Given the description of an element on the screen output the (x, y) to click on. 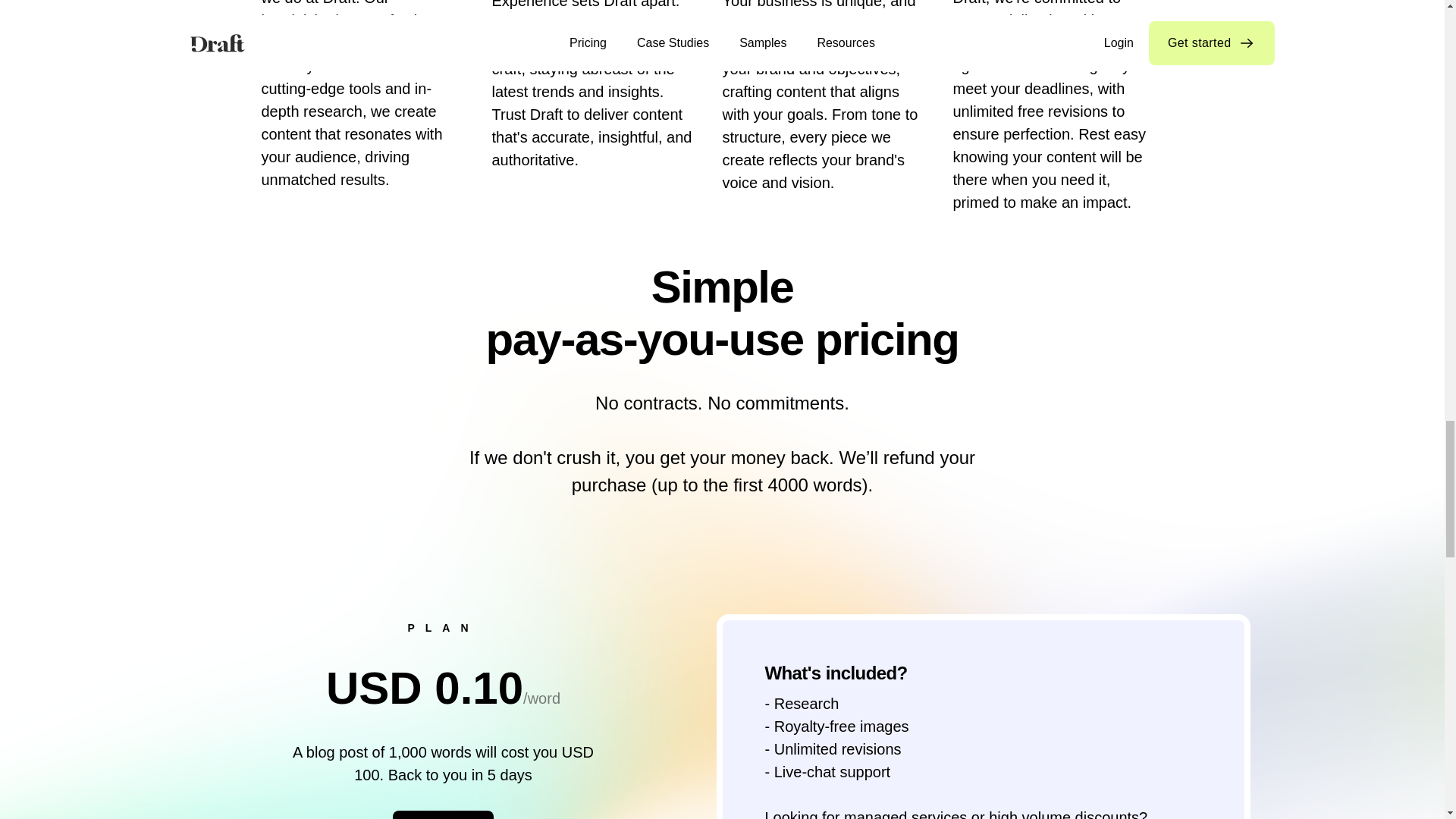
Get started (444, 814)
